Given the description of an element on the screen output the (x, y) to click on. 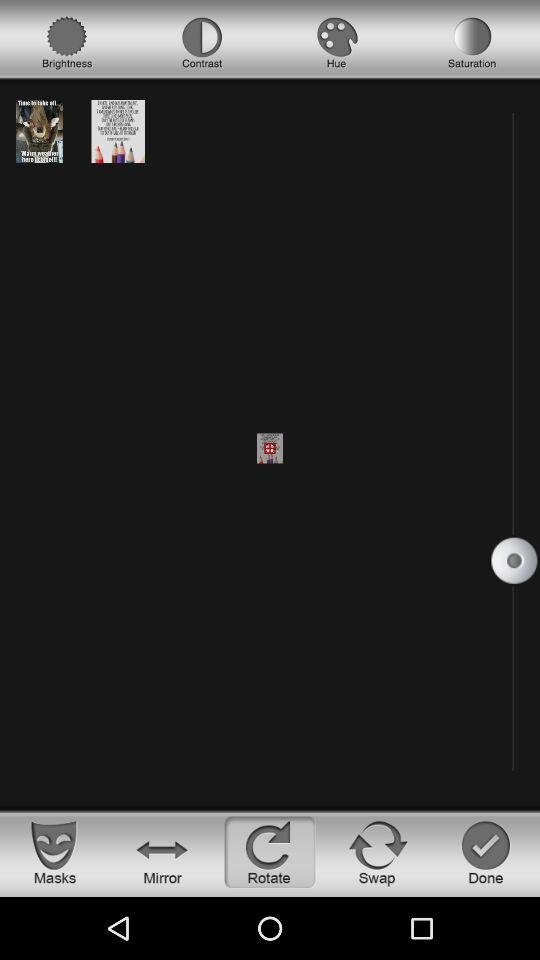
confirm an action (485, 852)
